Given the description of an element on the screen output the (x, y) to click on. 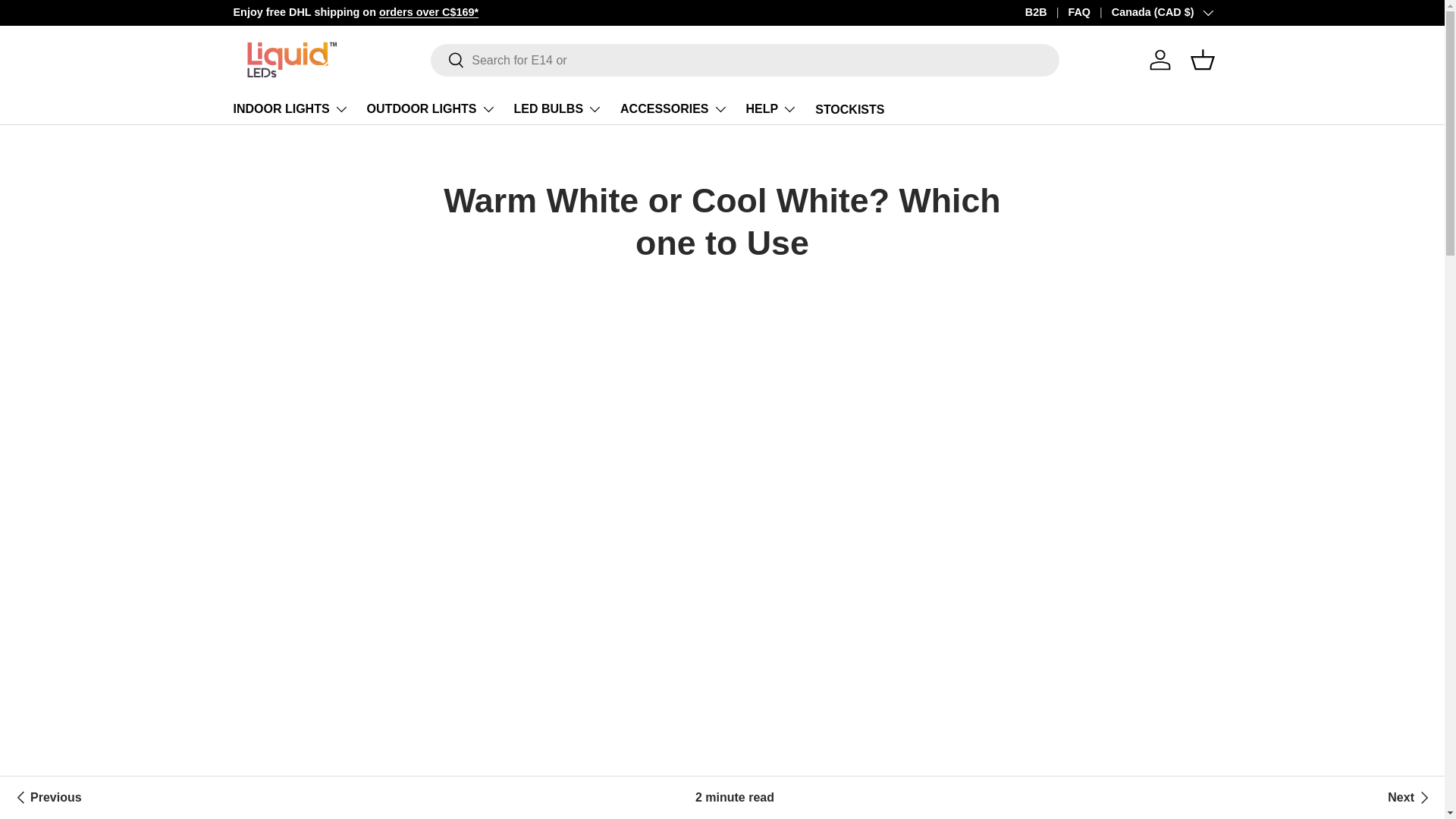
No Quibble Guarantee (1198, 11)
Log in (1159, 59)
Search (447, 60)
FAQ (1088, 12)
Shipping To Canada (428, 11)
Skip to content (69, 21)
Basket (1203, 59)
LED BULBS (557, 109)
How much heat LED light bulbs generate? (1409, 797)
OUTDOOR LIGHTS (431, 109)
